Given the description of an element on the screen output the (x, y) to click on. 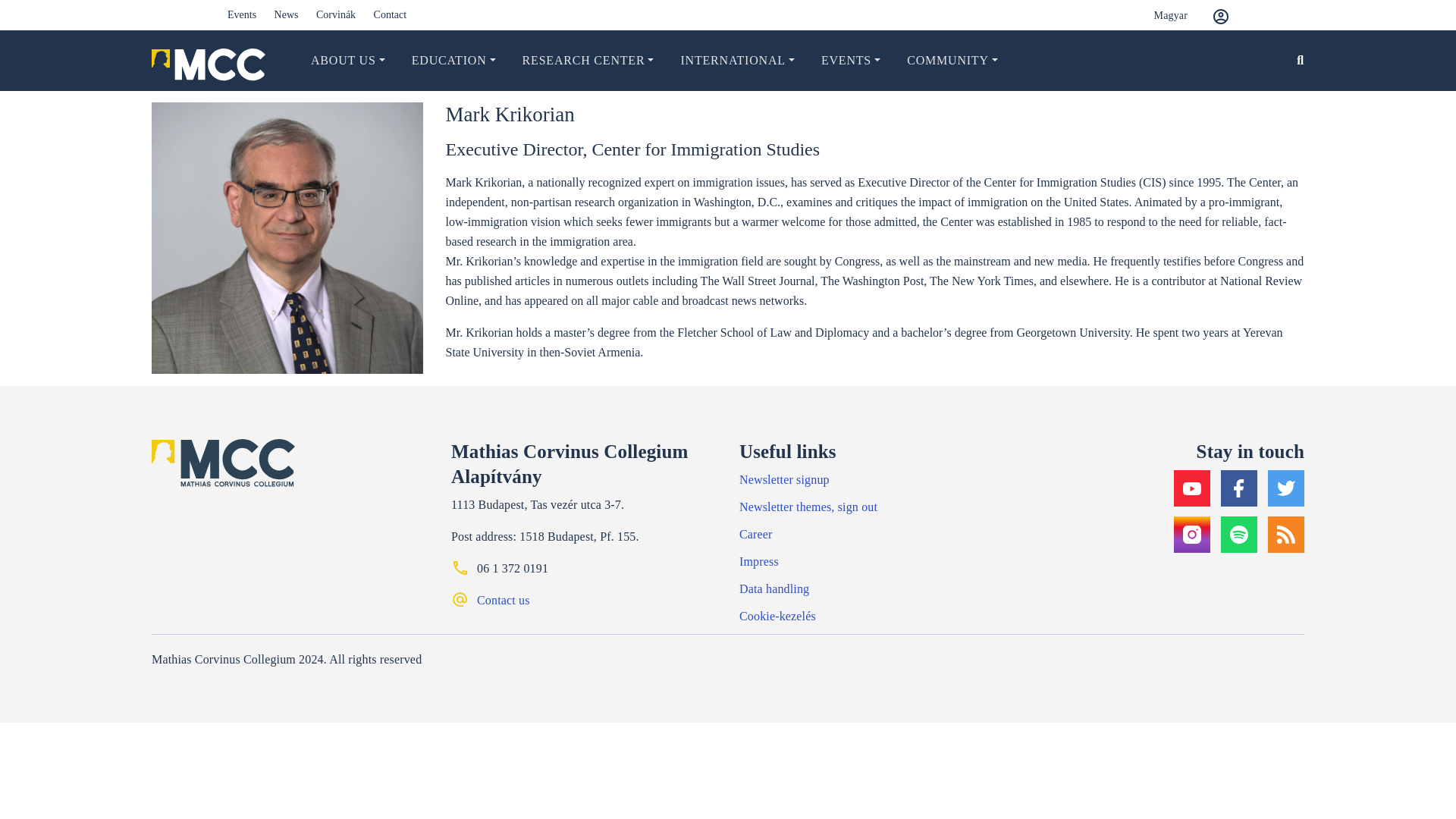
Magyar (1159, 15)
News (286, 14)
Contact (390, 14)
Events (241, 14)
